Given the description of an element on the screen output the (x, y) to click on. 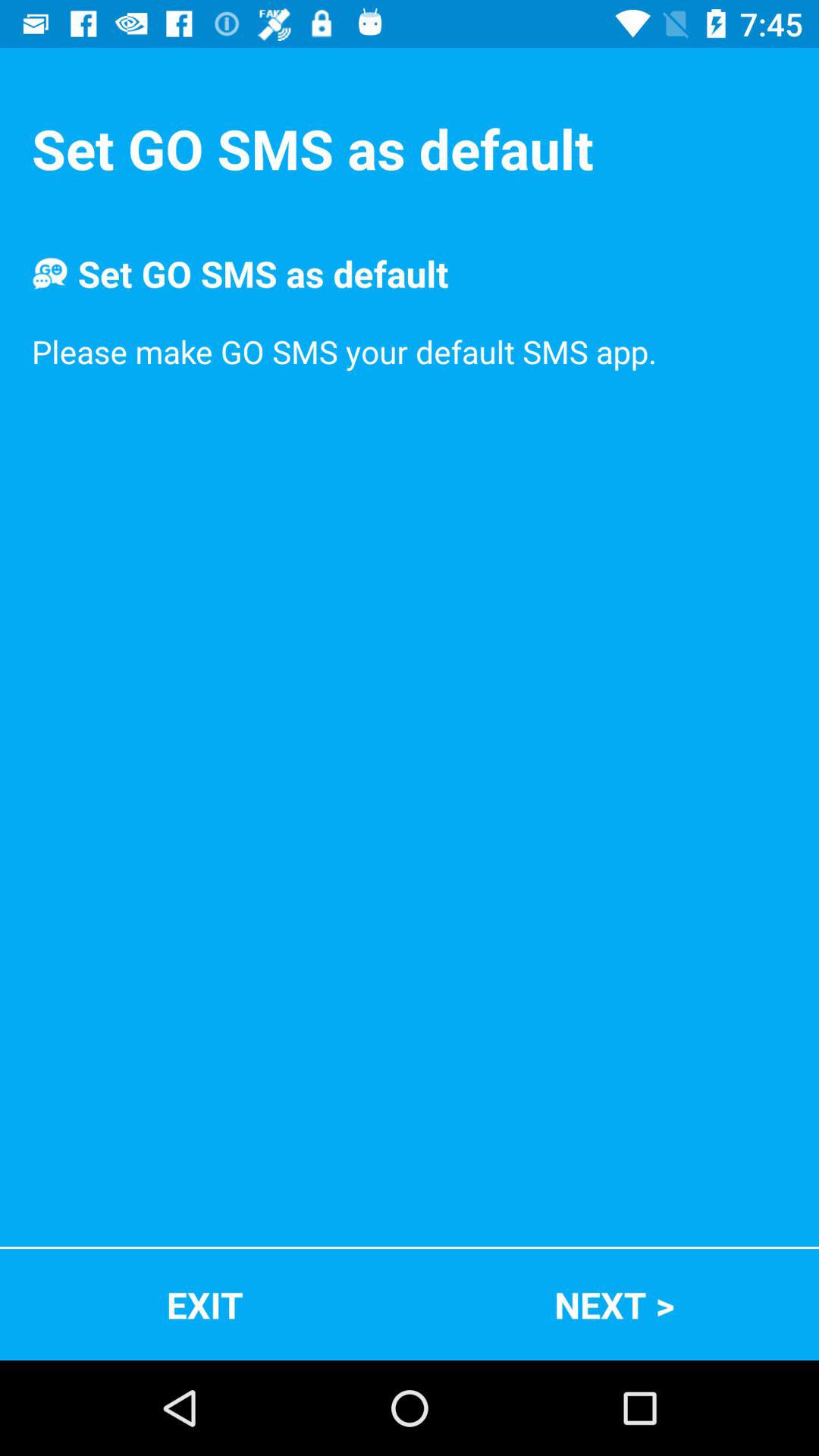
turn on the exit (204, 1304)
